Given the description of an element on the screen output the (x, y) to click on. 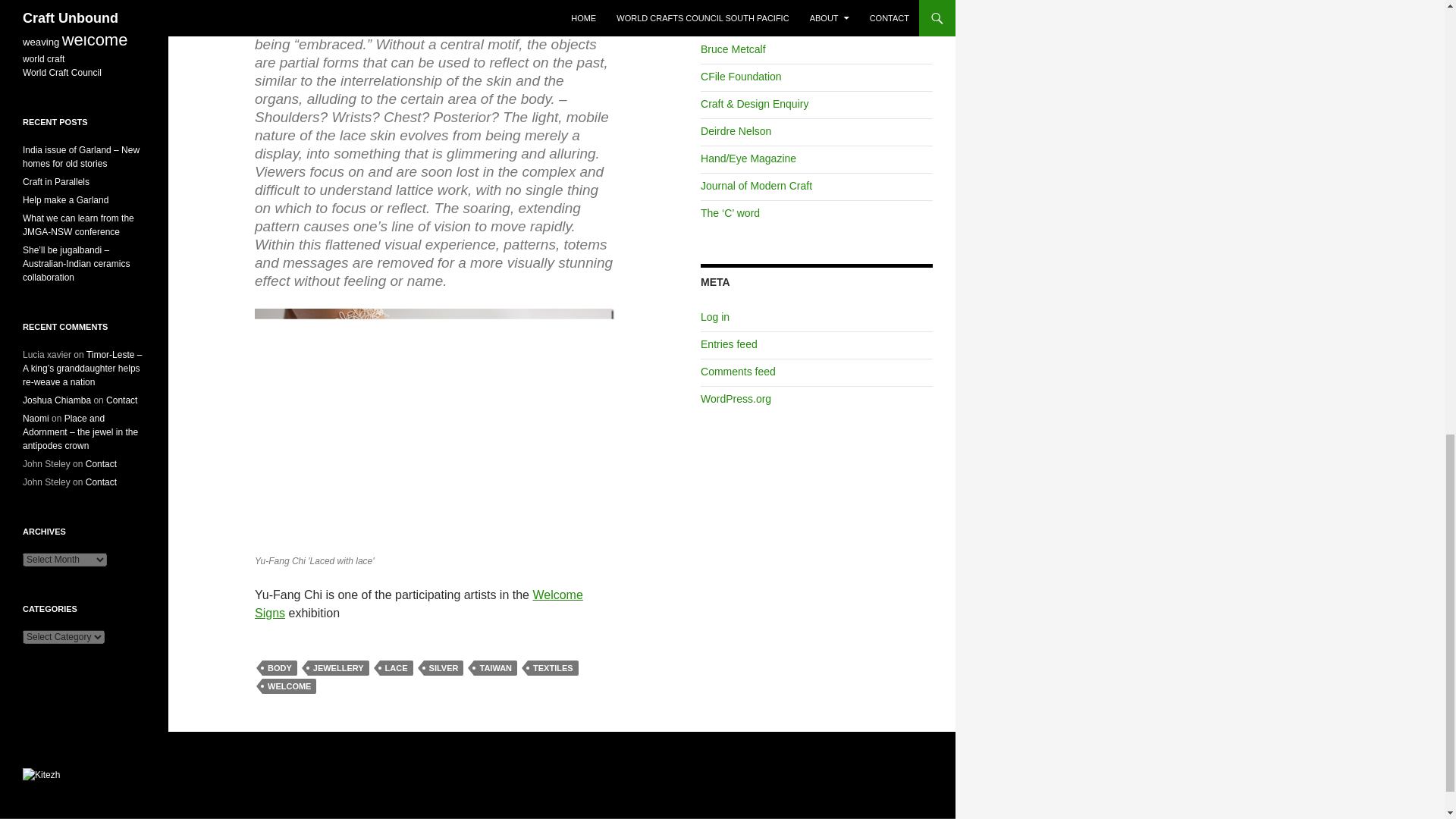
Craft gadfly (732, 49)
TAIWAN (495, 667)
WELCOME (288, 685)
BODY (279, 667)
Writing about ceramic art and design (740, 76)
TEXTILES (552, 667)
Reflections from an English ceramicist (730, 213)
LACE (396, 667)
SILVER (443, 667)
JEWELLERY (338, 667)
Welcome Signs (418, 603)
